Given the description of an element on the screen output the (x, y) to click on. 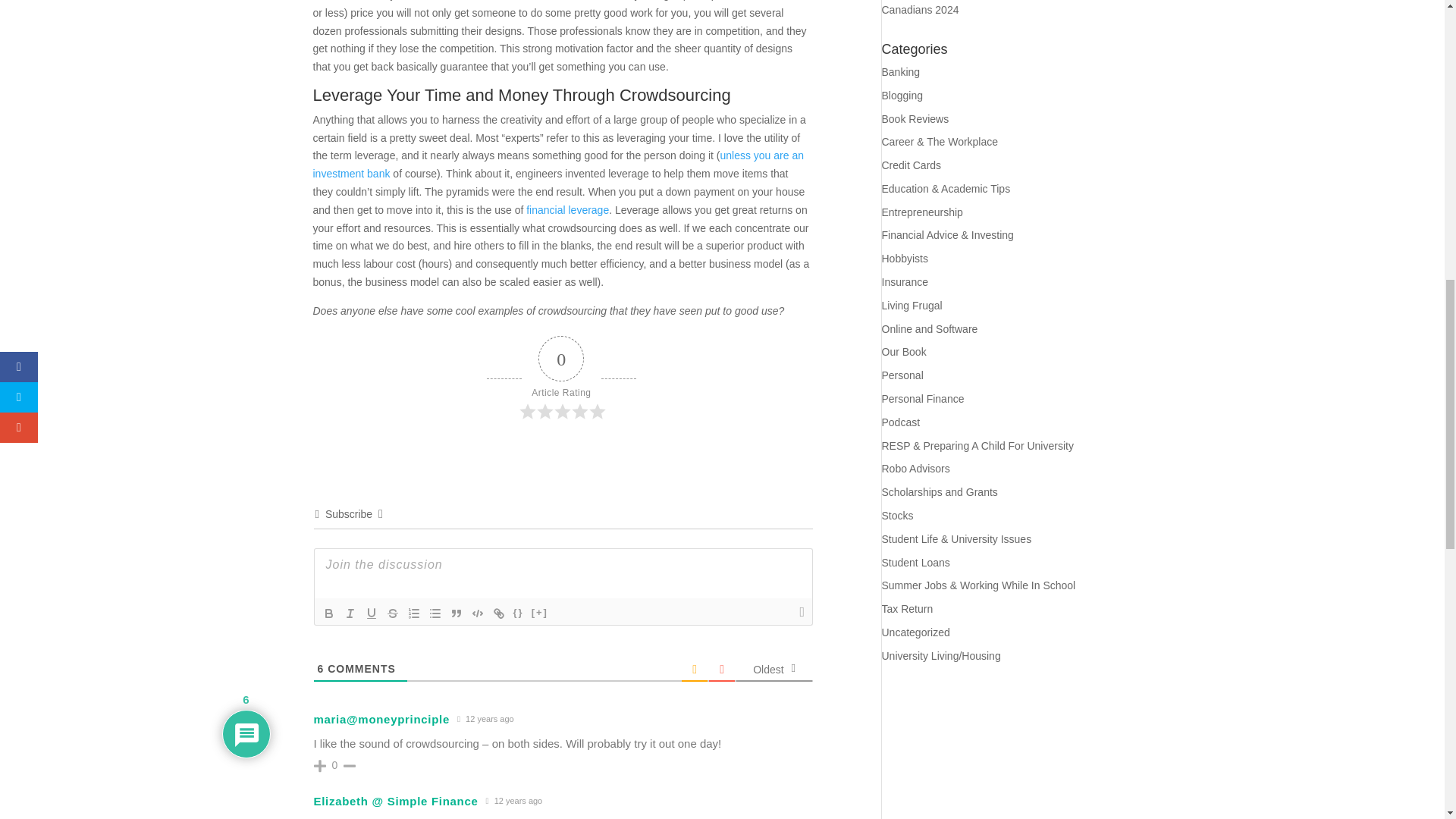
ordered (414, 613)
Blockquote (456, 613)
unless you are an investment bank (558, 164)
Why Is Financial Leverage Only Ok In Real Estate? (566, 209)
Unordered List (435, 613)
Spoiler (539, 613)
Ordered List (414, 613)
Underline (371, 613)
Italic (350, 613)
financial leverage (566, 209)
Bold (328, 613)
Source Code (518, 613)
Code Block (477, 613)
Strike (392, 613)
bullet (435, 613)
